Given the description of an element on the screen output the (x, y) to click on. 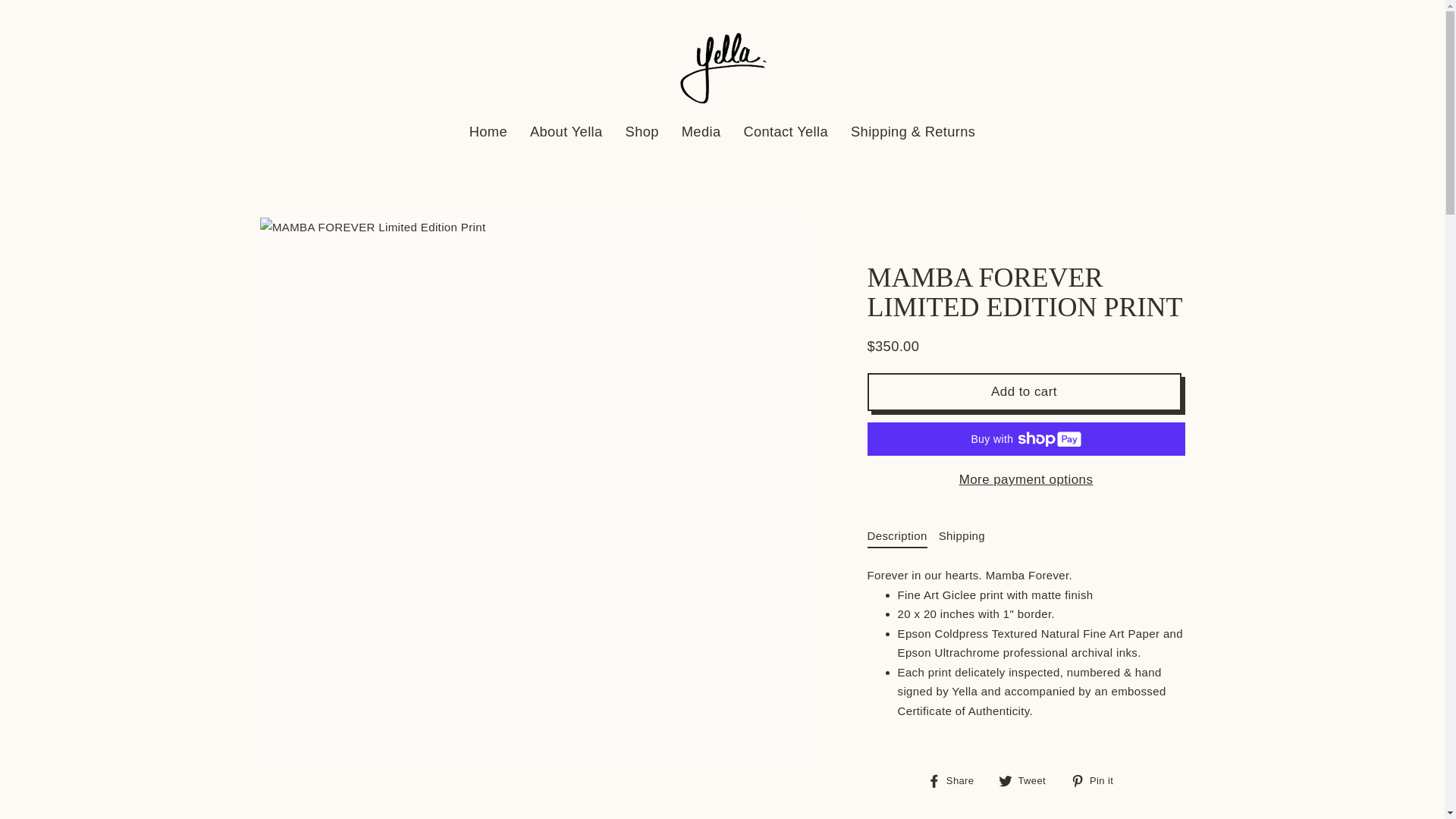
Shop (641, 131)
Tweet on Twitter (1027, 780)
Add to cart (1023, 392)
Home (1027, 780)
Contact Yella (488, 131)
Shipping (786, 131)
About Yella (962, 534)
Description (956, 780)
Skip to content (566, 131)
Pin on Pinterest (897, 534)
Media (1097, 780)
Share on Facebook (1026, 480)
